Given the description of an element on the screen output the (x, y) to click on. 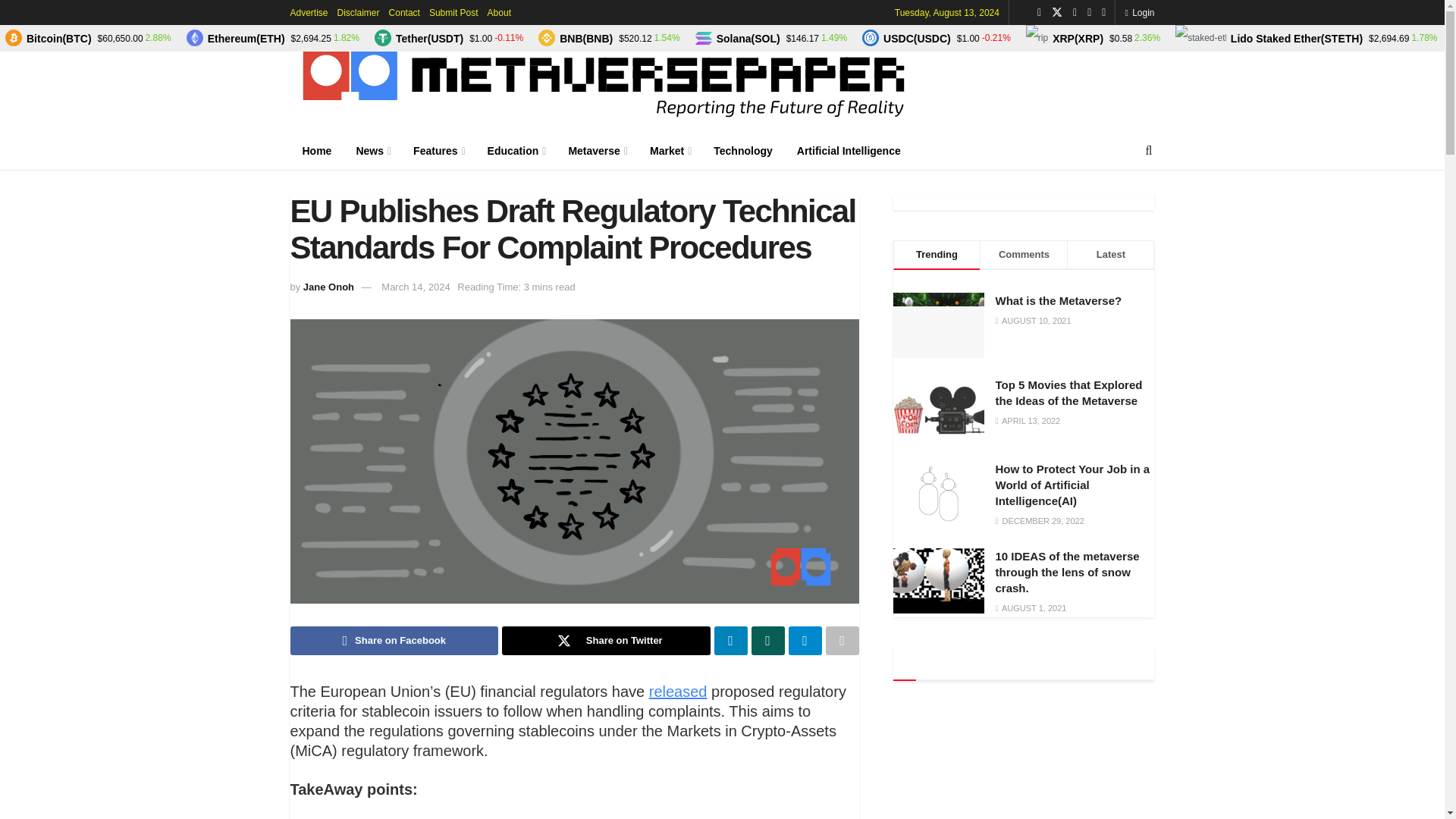
Education (516, 150)
Login (1139, 12)
Contact (404, 12)
Submit Post (454, 12)
About (499, 12)
Advertise (308, 12)
Features (437, 150)
Disclaimer (358, 12)
Home (316, 150)
News (372, 150)
